Given the description of an element on the screen output the (x, y) to click on. 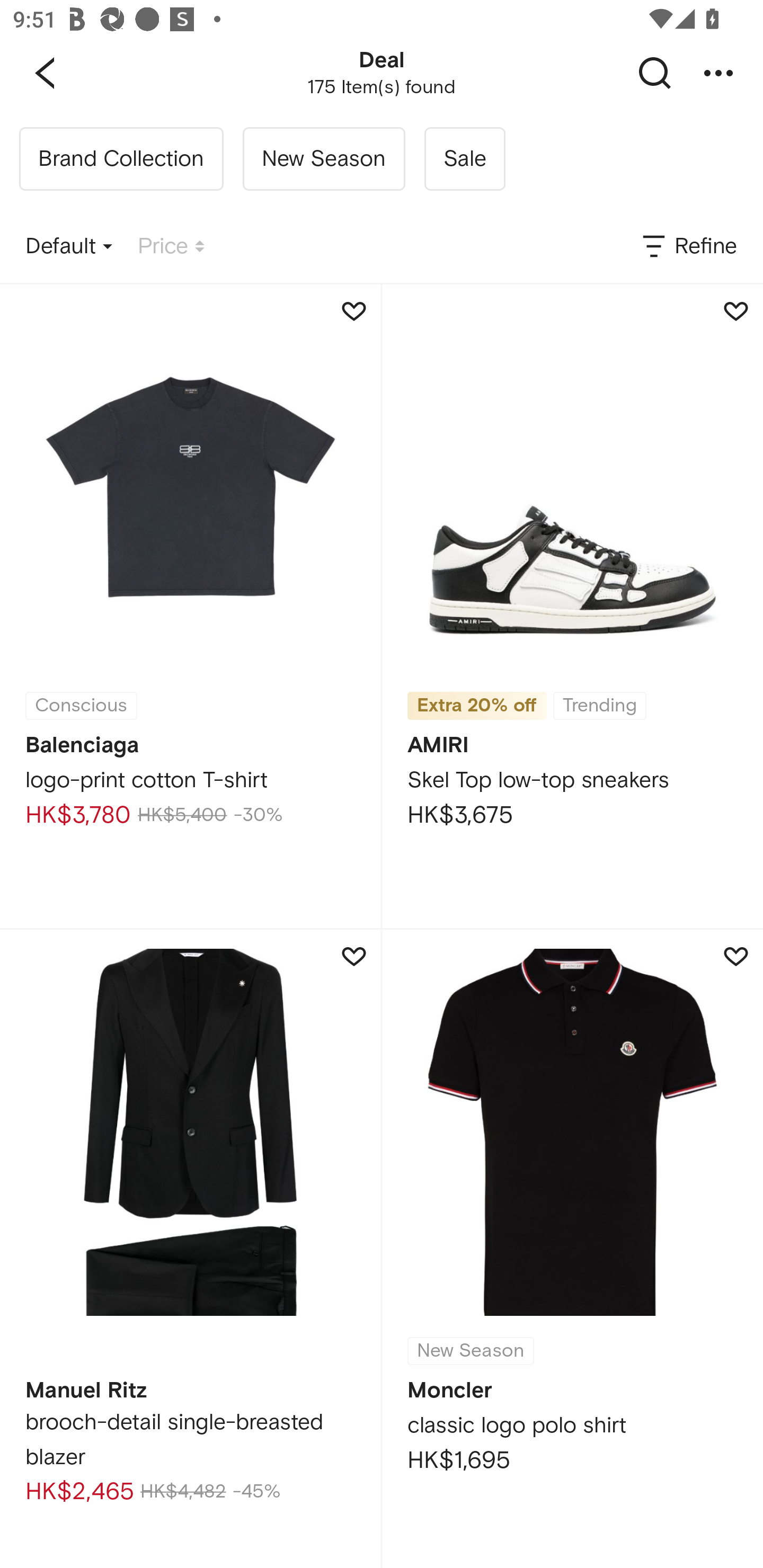
Brand Collection (121, 158)
New Season (323, 158)
Sale (464, 158)
Default (68, 246)
Price (171, 246)
Refine (688, 246)
Extra 20% off (477, 705)
